Given the description of an element on the screen output the (x, y) to click on. 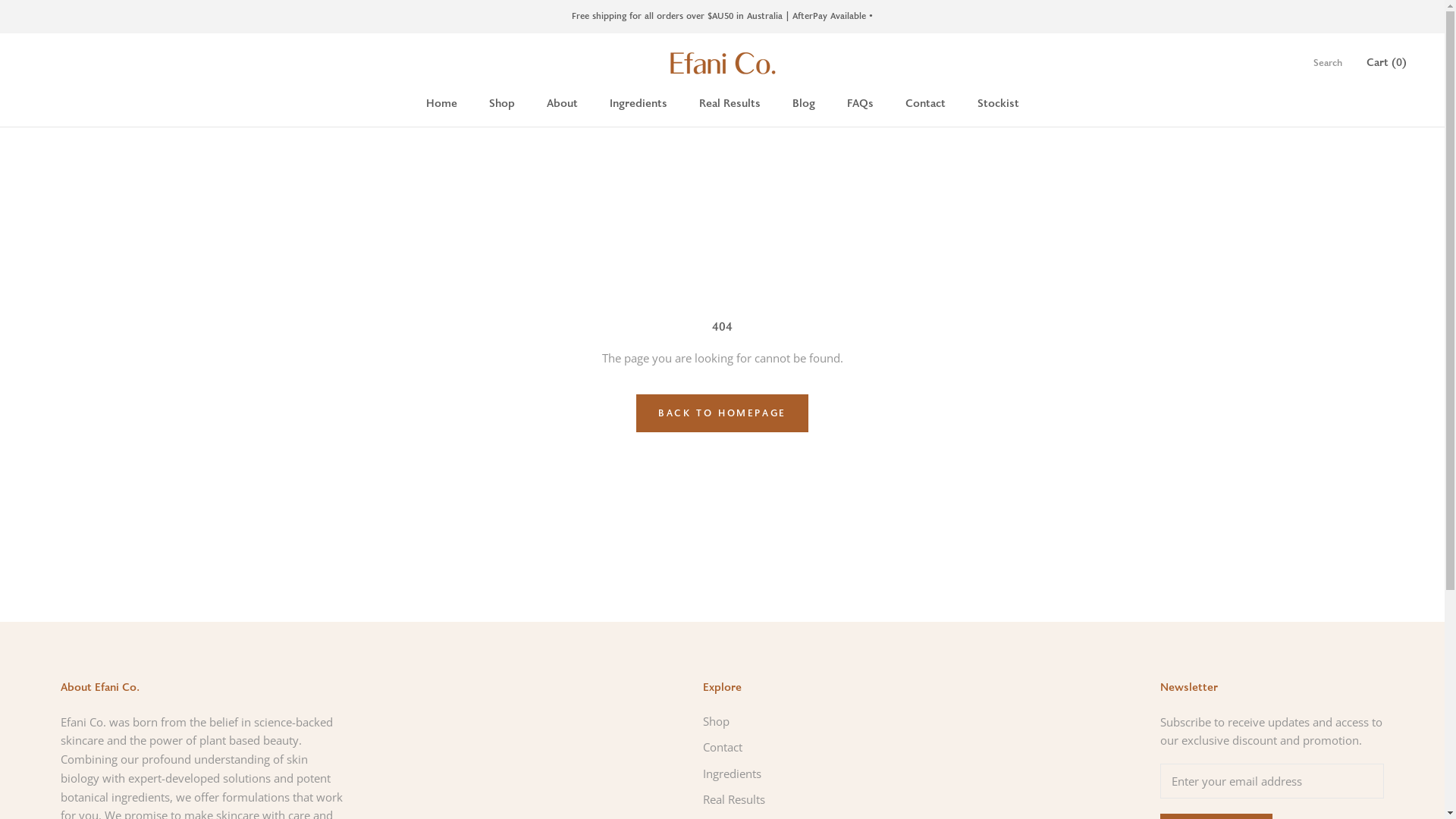
Search Element type: text (1327, 63)
Real Results Element type: text (754, 799)
Ingredients Element type: text (754, 773)
Home
Home Element type: text (441, 103)
Shop Element type: text (754, 721)
Contact
Contact Element type: text (925, 103)
Cart (0) Element type: text (1386, 62)
About
About Element type: text (561, 103)
Blog
Blog Element type: text (802, 103)
BACK TO HOMEPAGE Element type: text (722, 413)
Contact Element type: text (754, 747)
Real Results
Real Results Element type: text (729, 103)
Ingredients
Ingredients Element type: text (638, 103)
Stockist
Stockist Element type: text (997, 103)
Shop
Shop Element type: text (501, 103)
FAQs
FAQs Element type: text (859, 103)
